Given the description of an element on the screen output the (x, y) to click on. 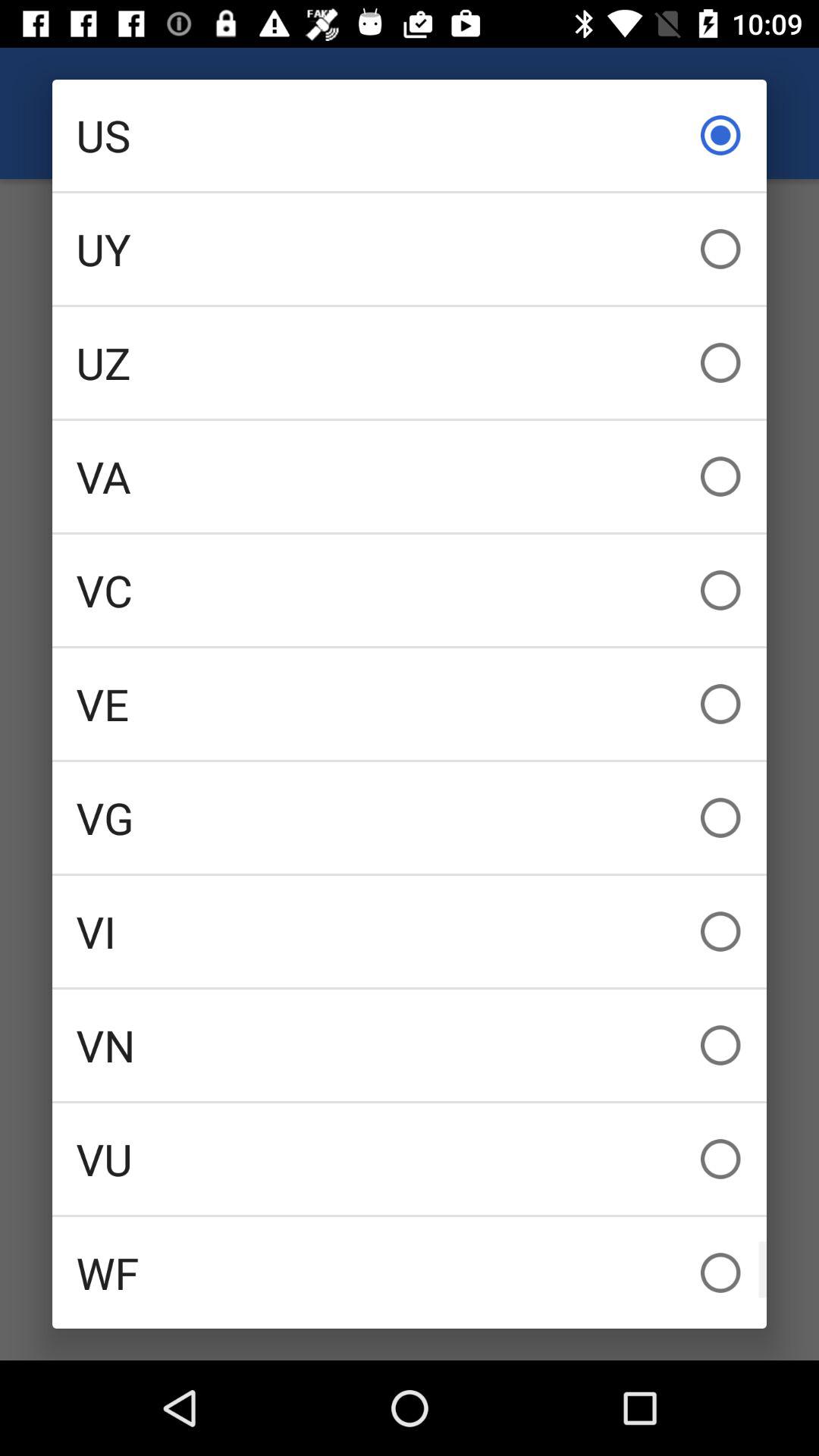
open the vi item (409, 931)
